Given the description of an element on the screen output the (x, y) to click on. 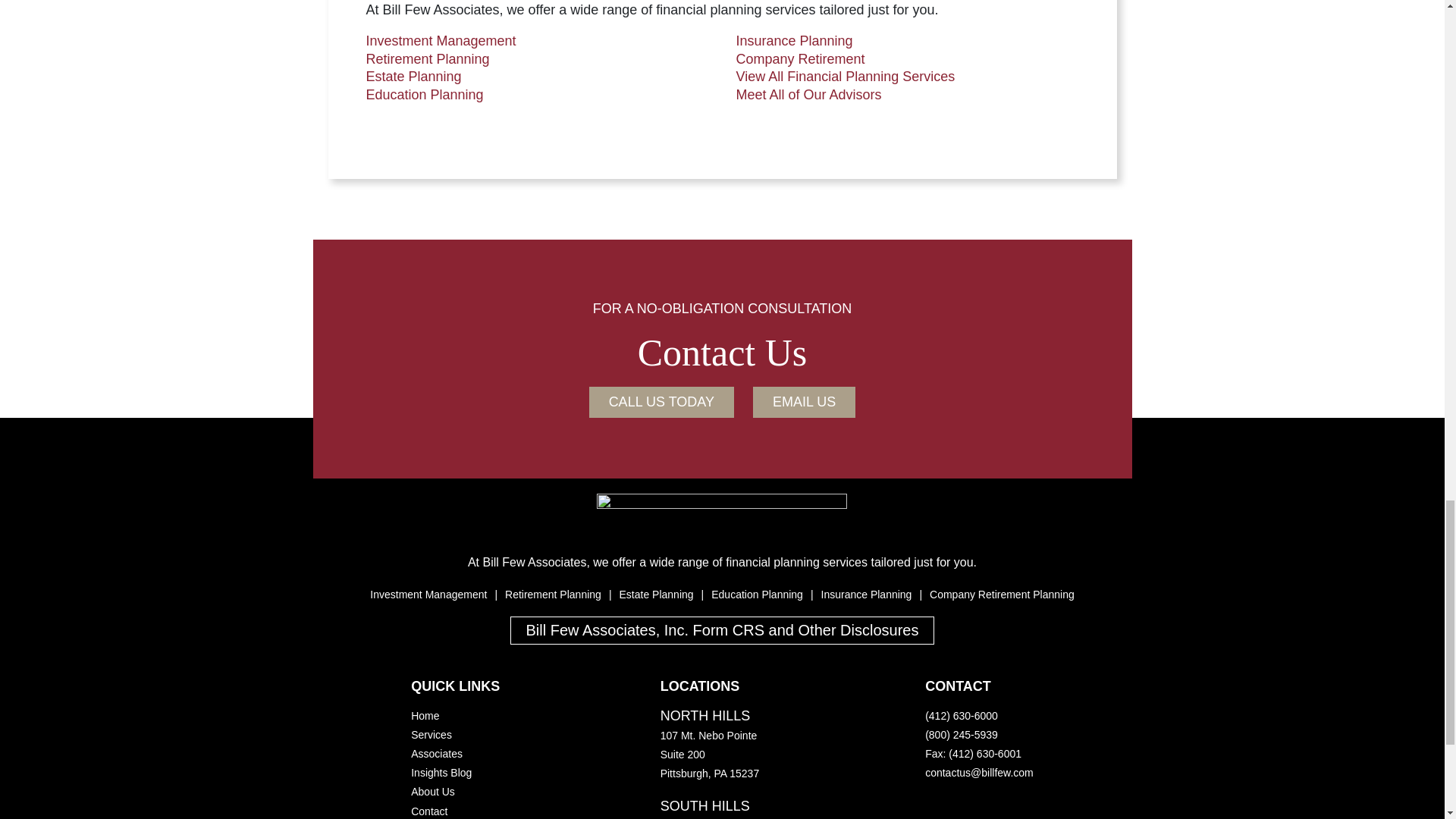
Retirement Planning (427, 58)
Retirement Planning (553, 594)
View All Financial Planning Services (845, 76)
Estate Planning (413, 76)
Home (424, 715)
Company Retirement (799, 58)
Insurance Planning (866, 594)
Associates (436, 753)
CALL US TODAY (661, 401)
Bill Few Associates, Inc. Form CRS and Other Disclosures (722, 630)
